Given the description of an element on the screen output the (x, y) to click on. 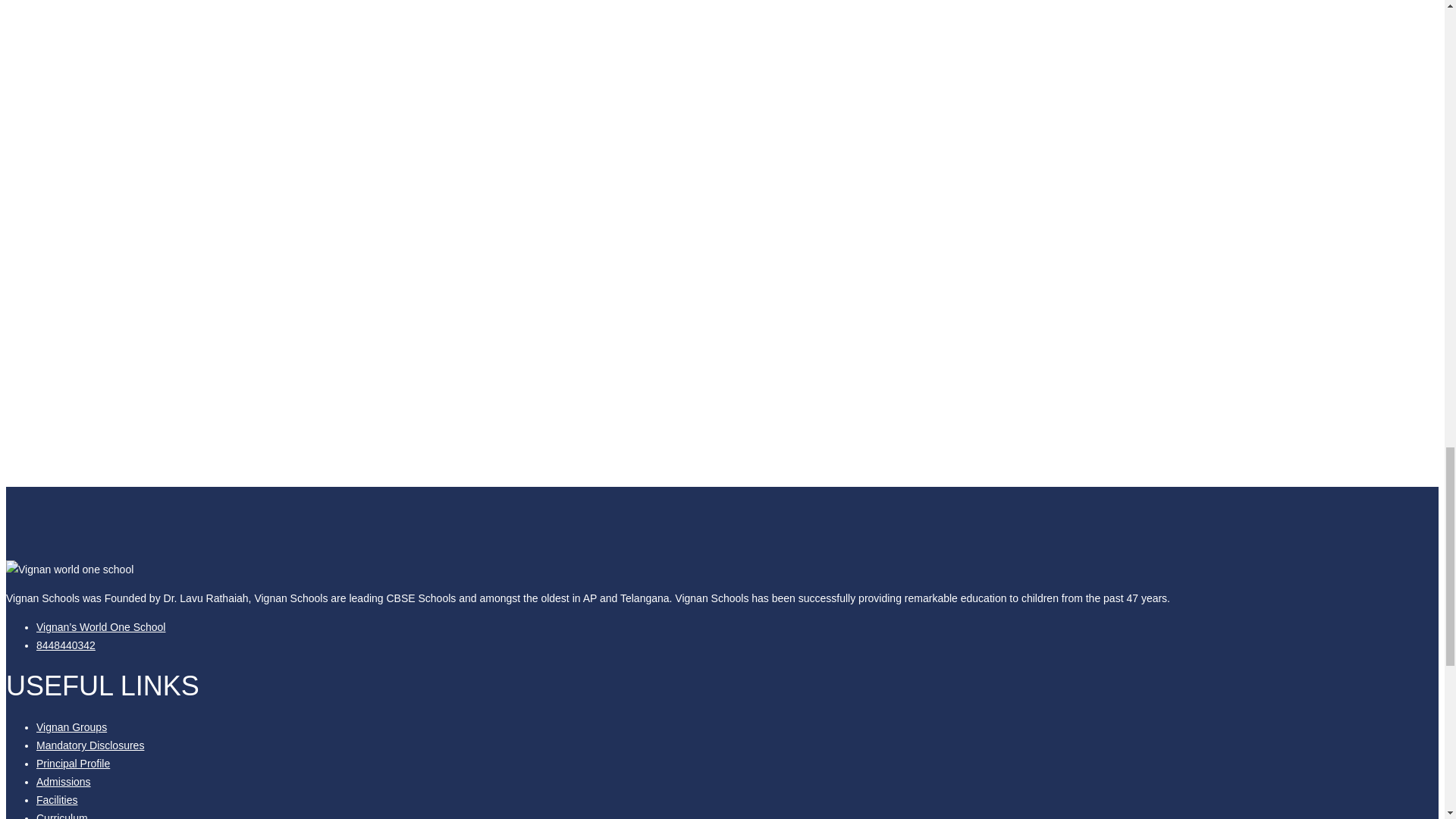
Mandatory Disclosures (90, 745)
8448440342 (66, 645)
Facilities (56, 799)
Curriculum (61, 815)
Principal Profile (73, 763)
Admissions (63, 781)
Vignan Groups (71, 727)
